Given the description of an element on the screen output the (x, y) to click on. 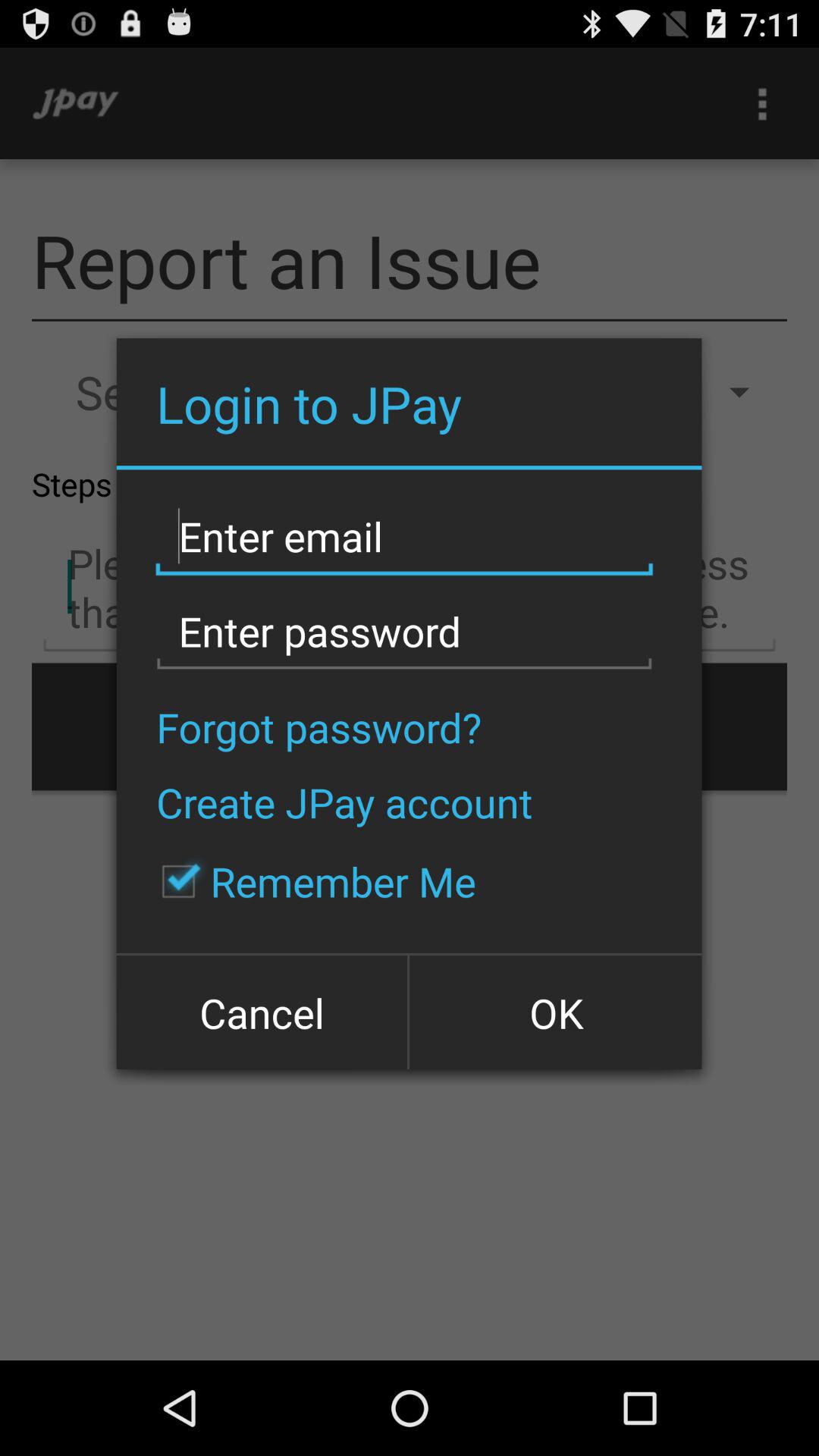
launch the icon below remember me (263, 1011)
